Given the description of an element on the screen output the (x, y) to click on. 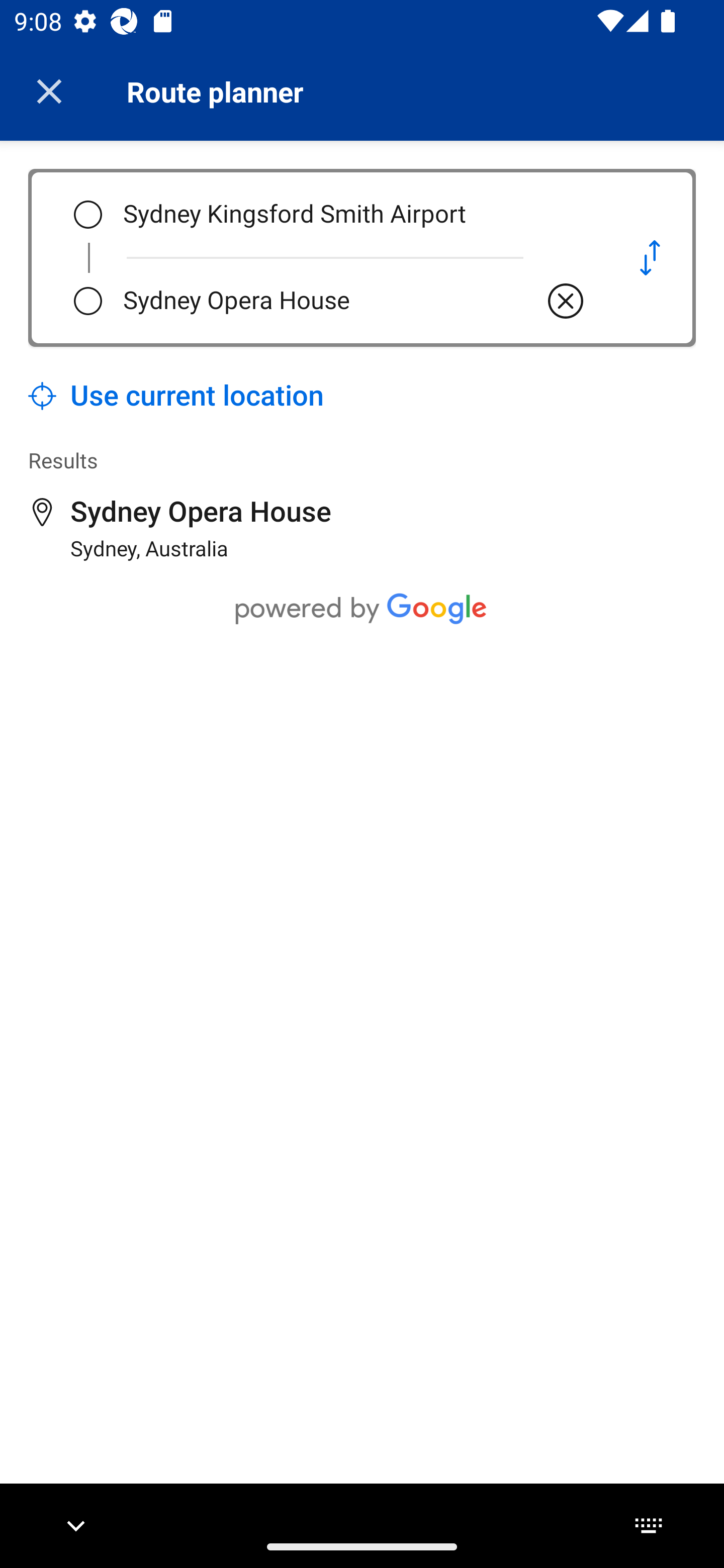
Close (49, 91)
Sydney Kingsford Smith Airport (355, 214)
Swap pick-up location and destination (650, 257)
Sydney Opera House Clear (355, 300)
Clear (565, 300)
Use current location (176, 395)
Sydney Opera House Sydney, Australia (179, 528)
